Given the description of an element on the screen output the (x, y) to click on. 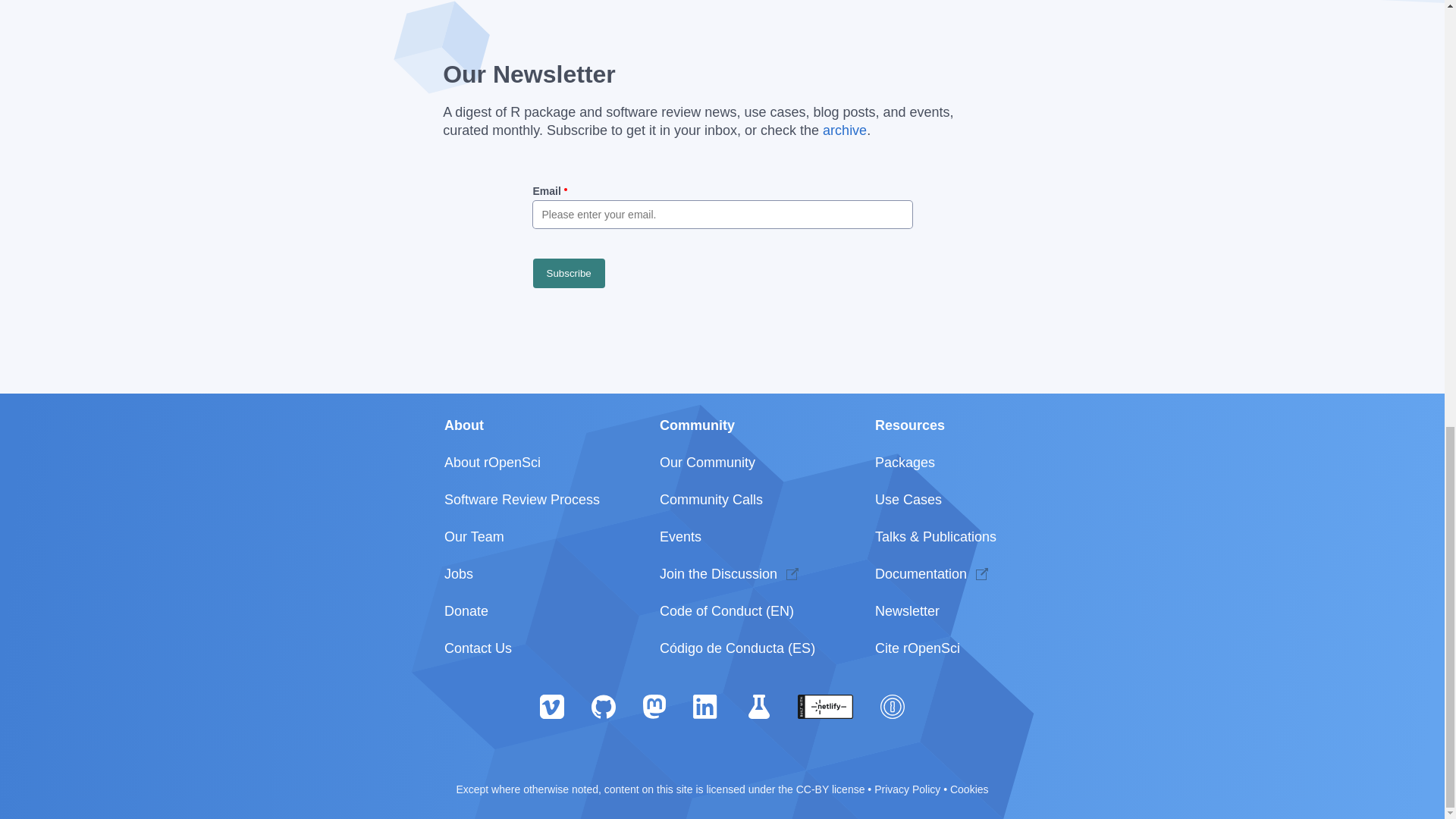
Website deployed via Netlify (825, 705)
Happy 1Password users (892, 705)
